Given the description of an element on the screen output the (x, y) to click on. 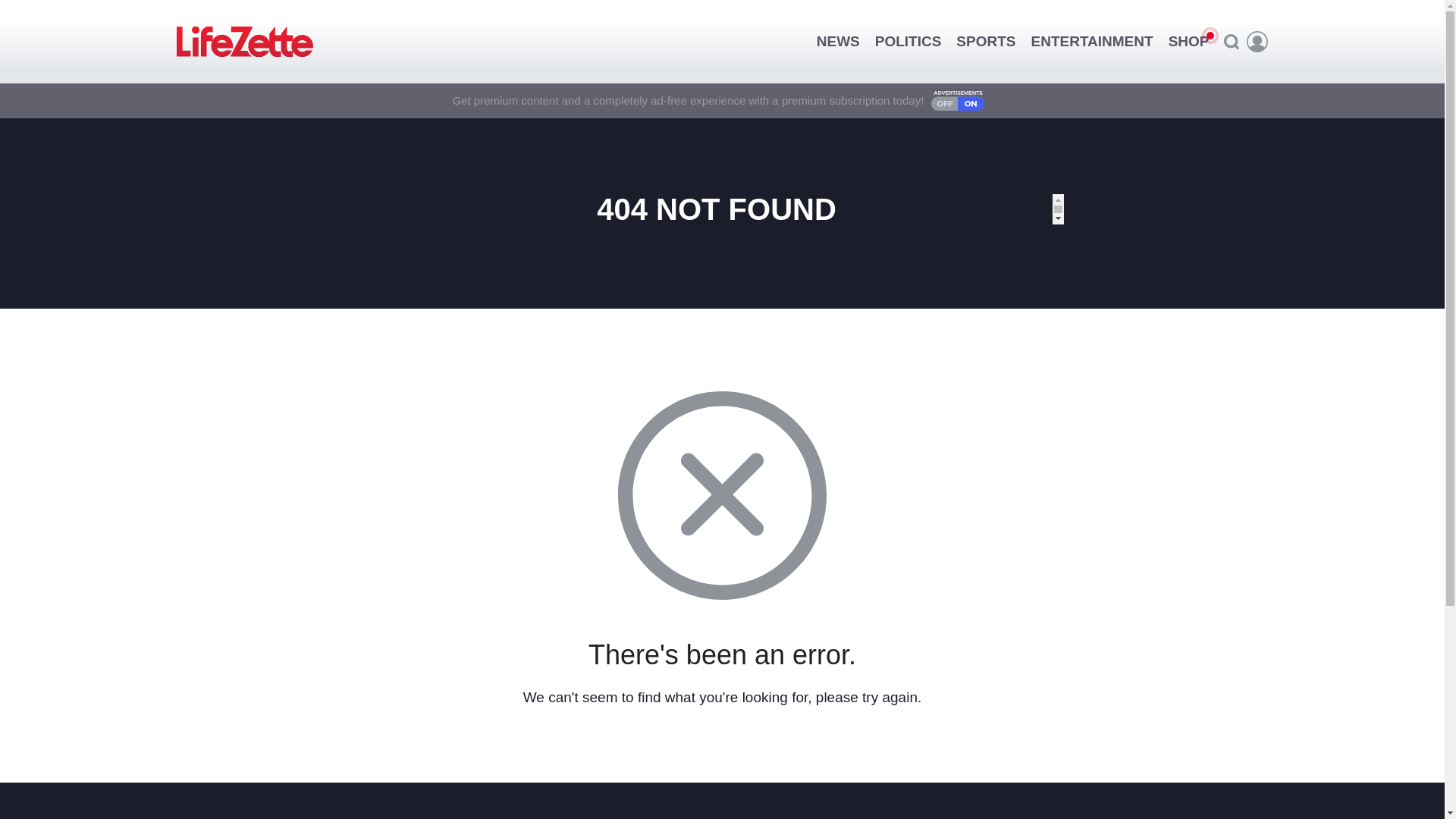
NEWS (838, 41)
Search (1230, 41)
ENTERTAINMENT (1091, 41)
POLITICS (908, 41)
SHOP (1188, 41)
SPORTS (986, 41)
Account (1257, 41)
